Given the description of an element on the screen output the (x, y) to click on. 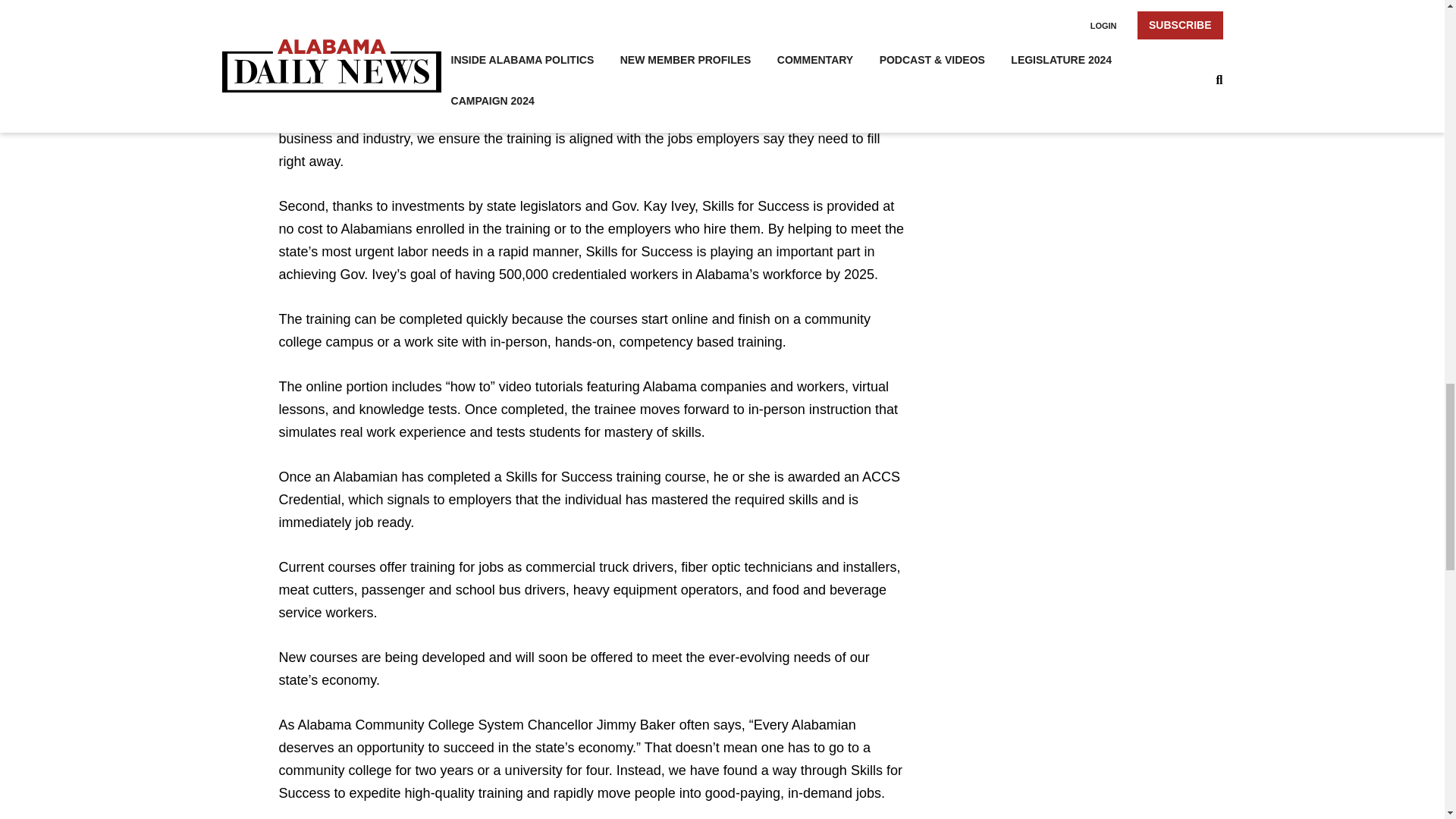
Subscribe (1051, 52)
